Given the description of an element on the screen output the (x, y) to click on. 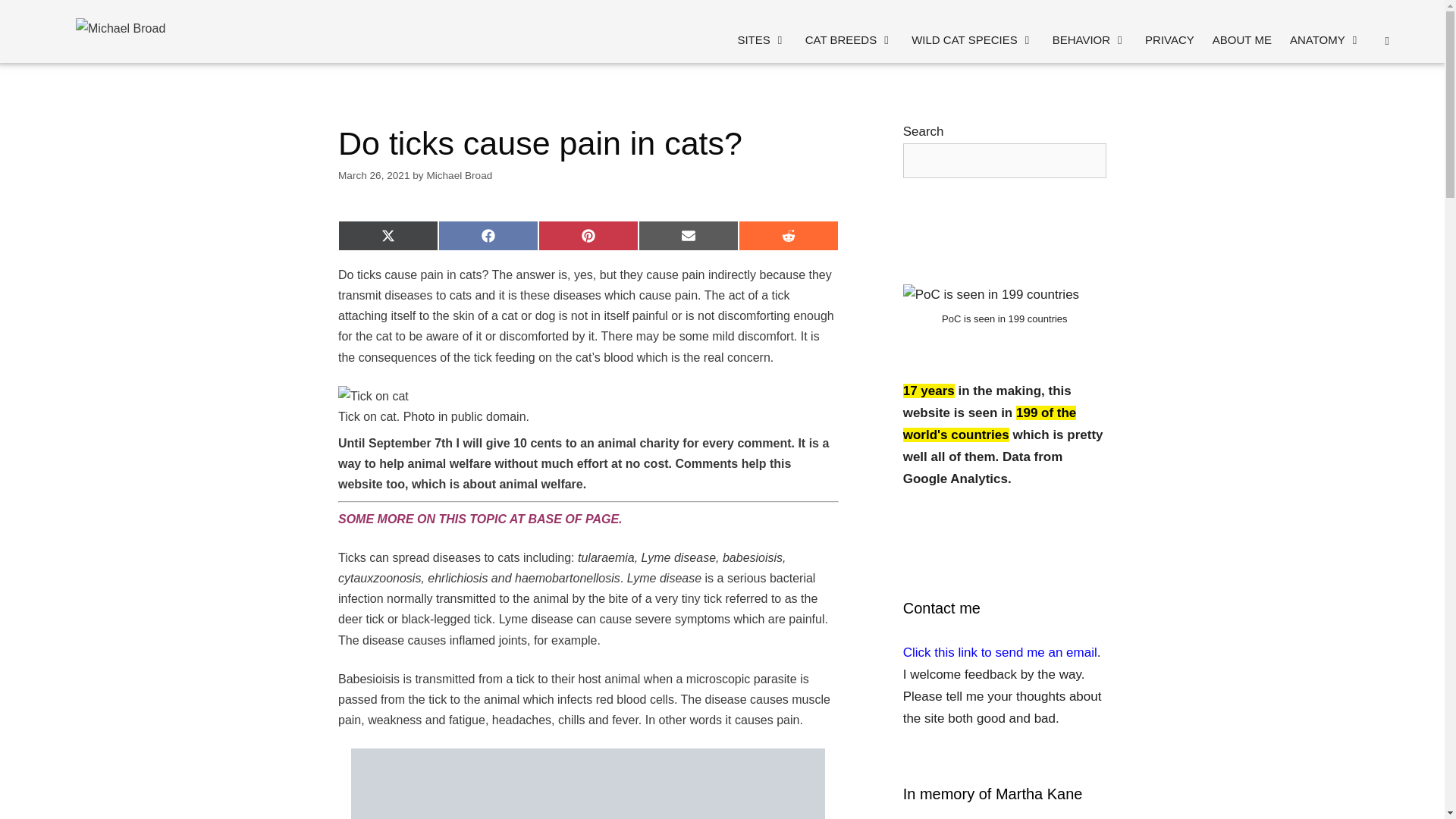
All the cat breeds fully discussed and illustrated (849, 40)
BEHAVIOR (1089, 40)
CAT BREEDS (849, 40)
All the wild cat species listed (972, 40)
SITES (761, 40)
WILD CAT SPECIES (972, 40)
